Given the description of an element on the screen output the (x, y) to click on. 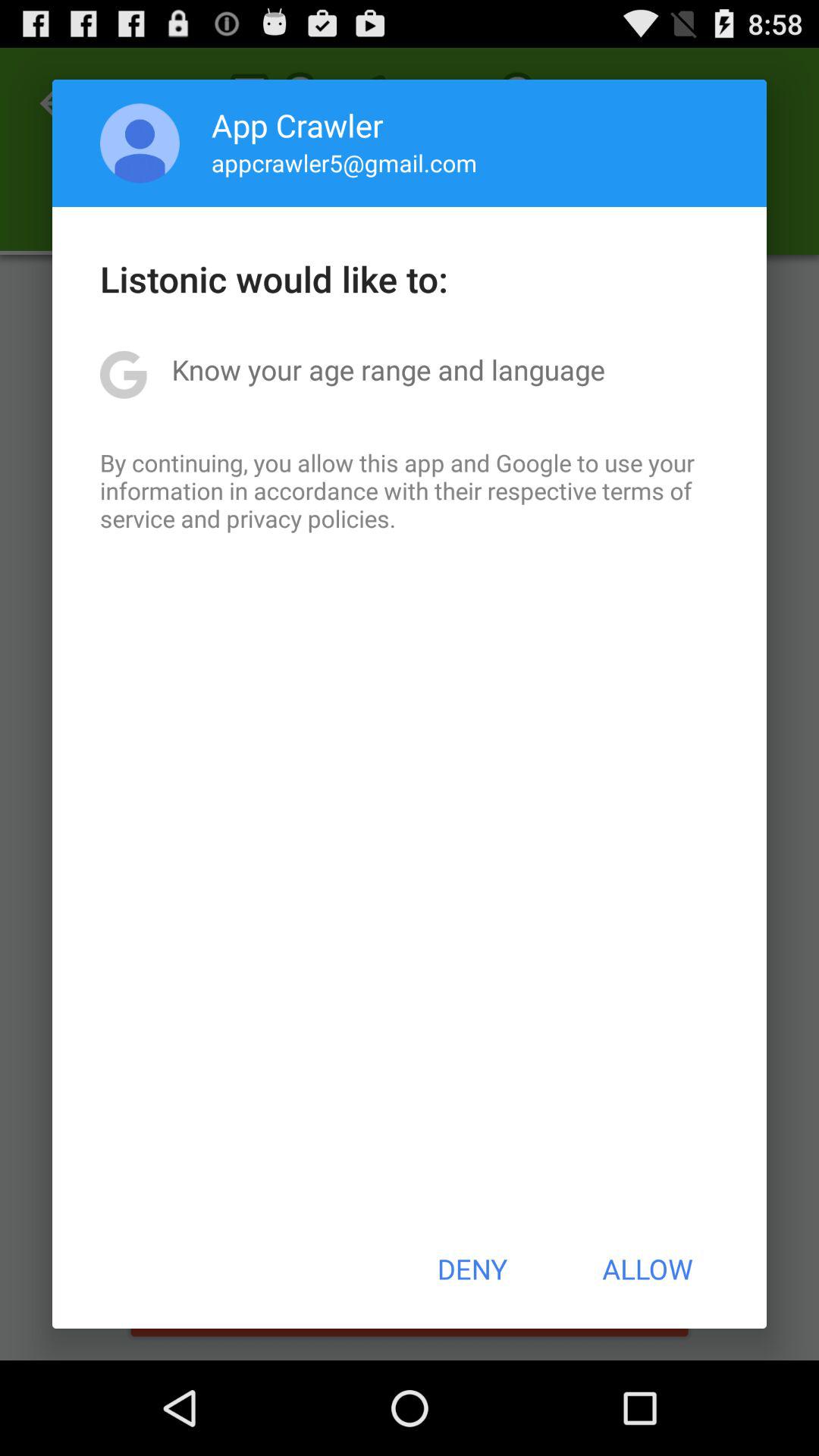
swipe until the know your age icon (388, 369)
